Given the description of an element on the screen output the (x, y) to click on. 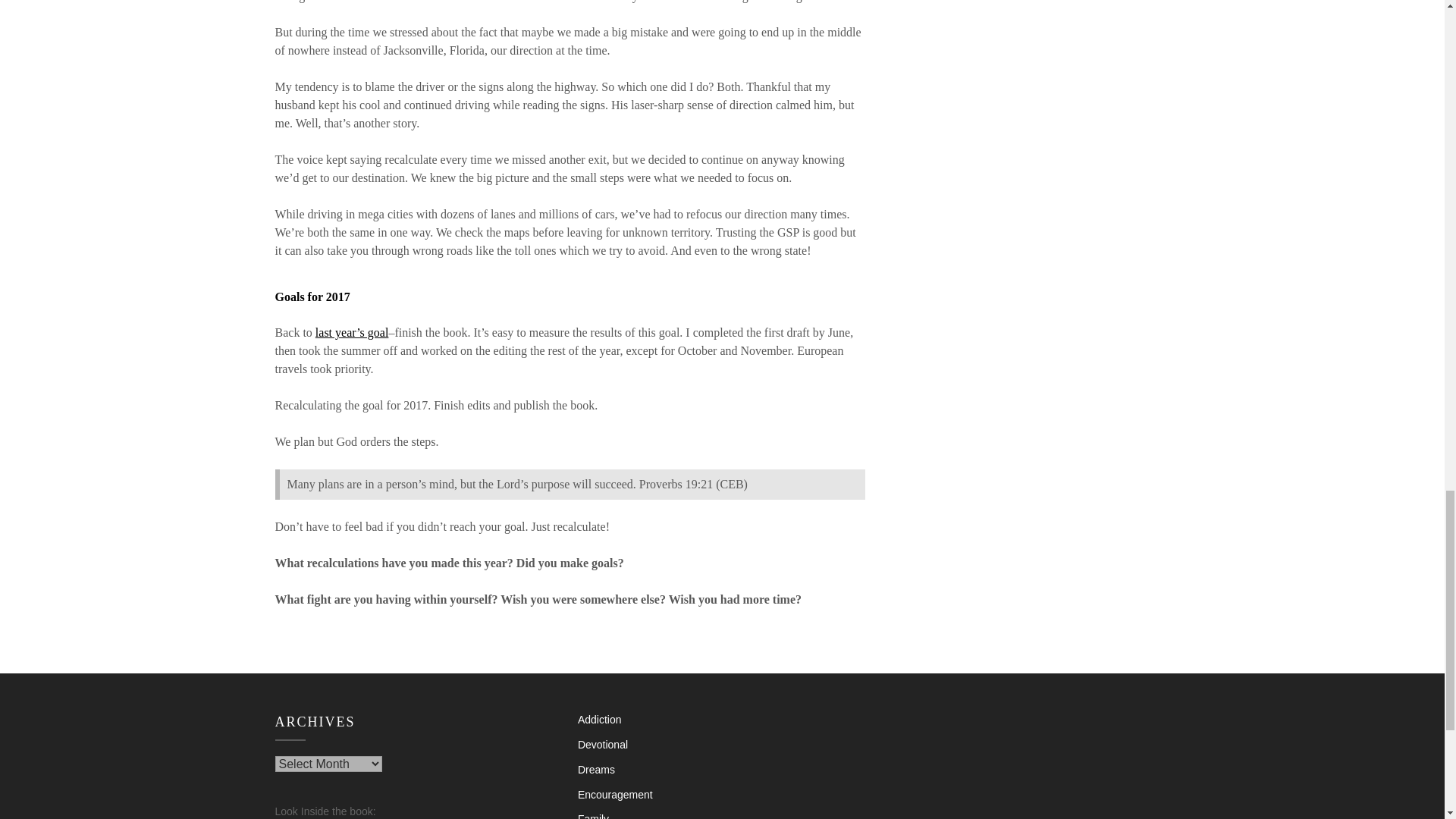
Addiction (599, 719)
Encouragement (615, 794)
Family (593, 816)
Devotional (602, 744)
Dreams (596, 769)
